Given the description of an element on the screen output the (x, y) to click on. 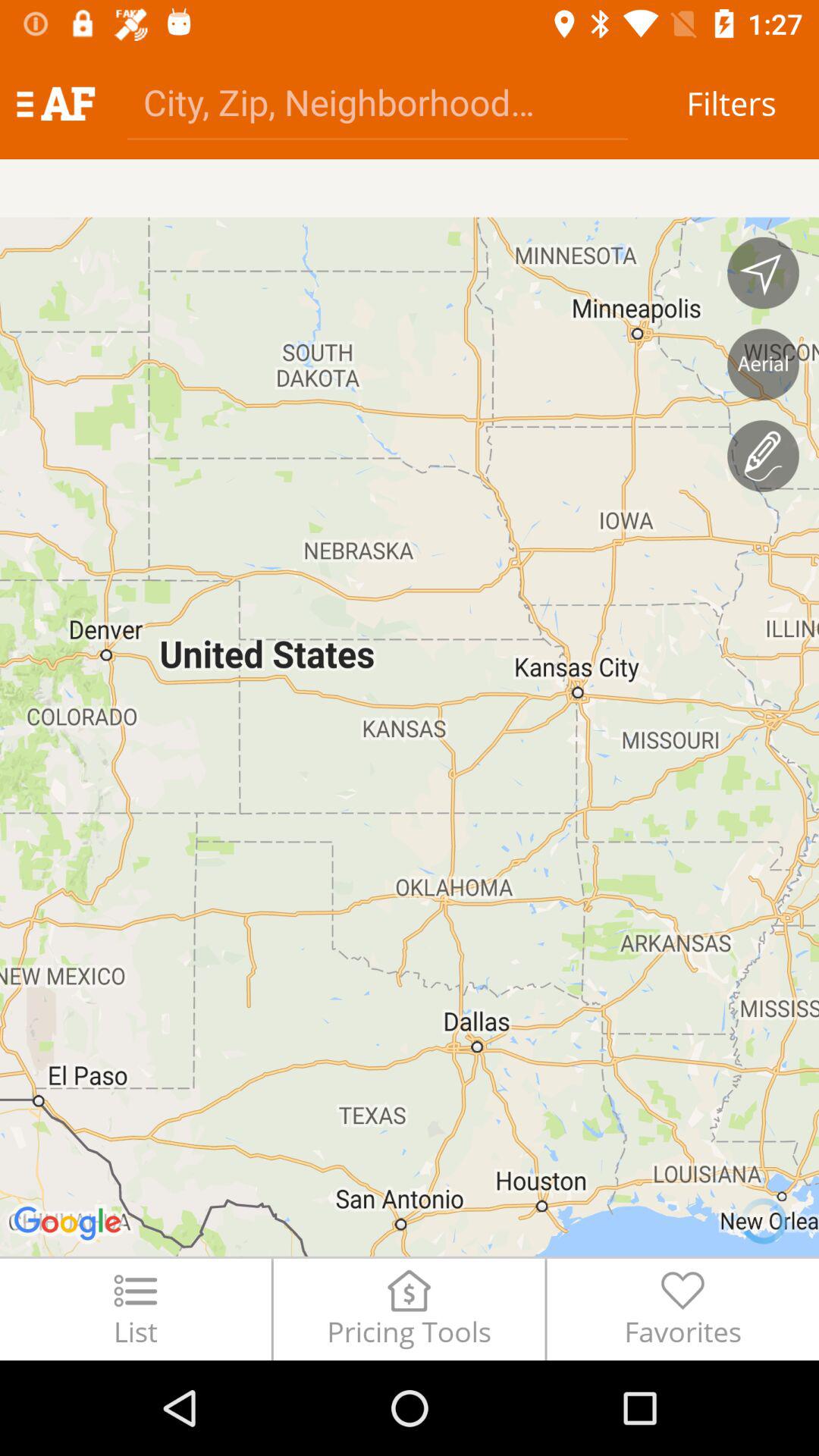
select the filters item (731, 103)
